Given the description of an element on the screen output the (x, y) to click on. 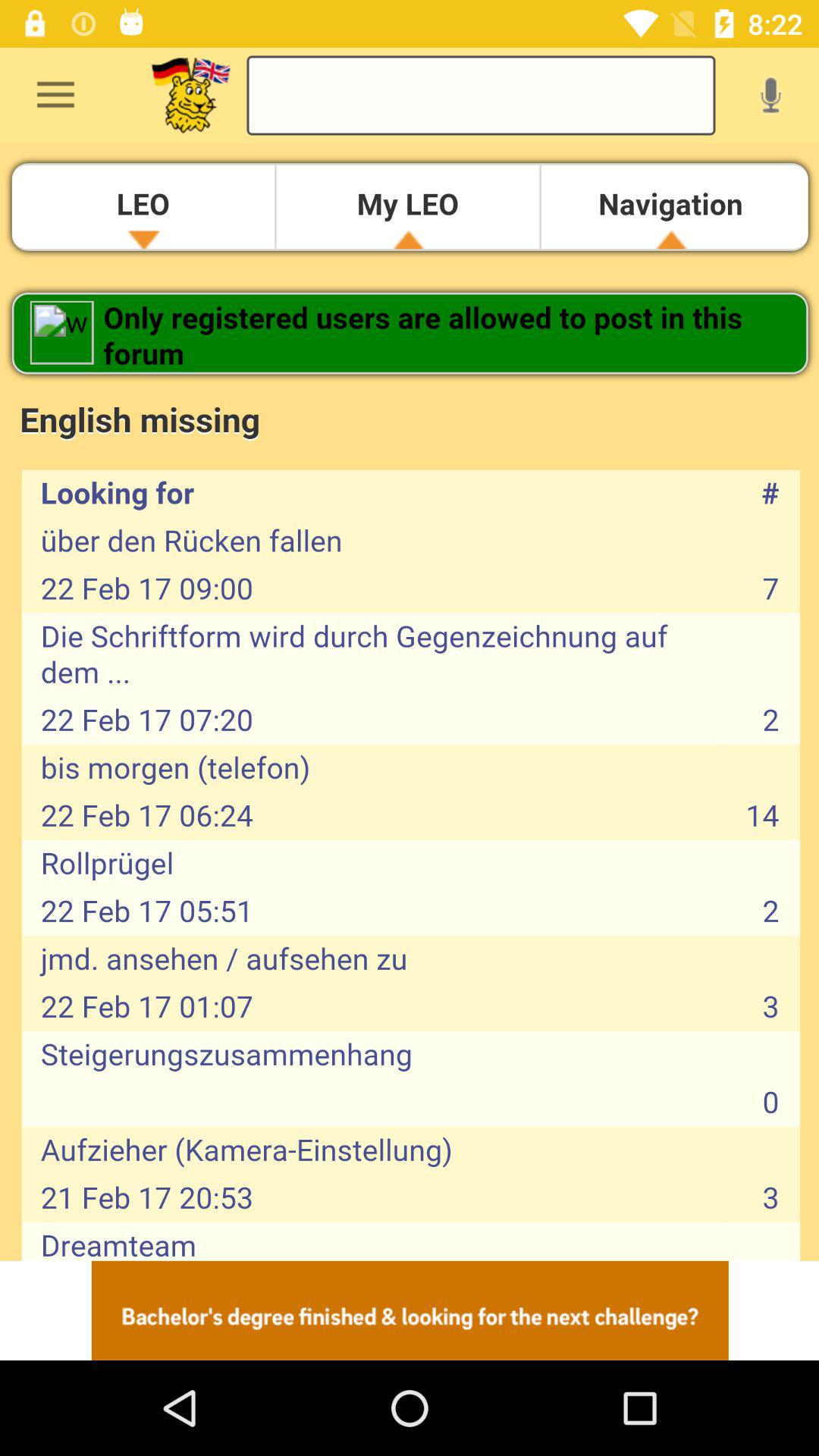
enter to search in forum (480, 95)
